Given the description of an element on the screen output the (x, y) to click on. 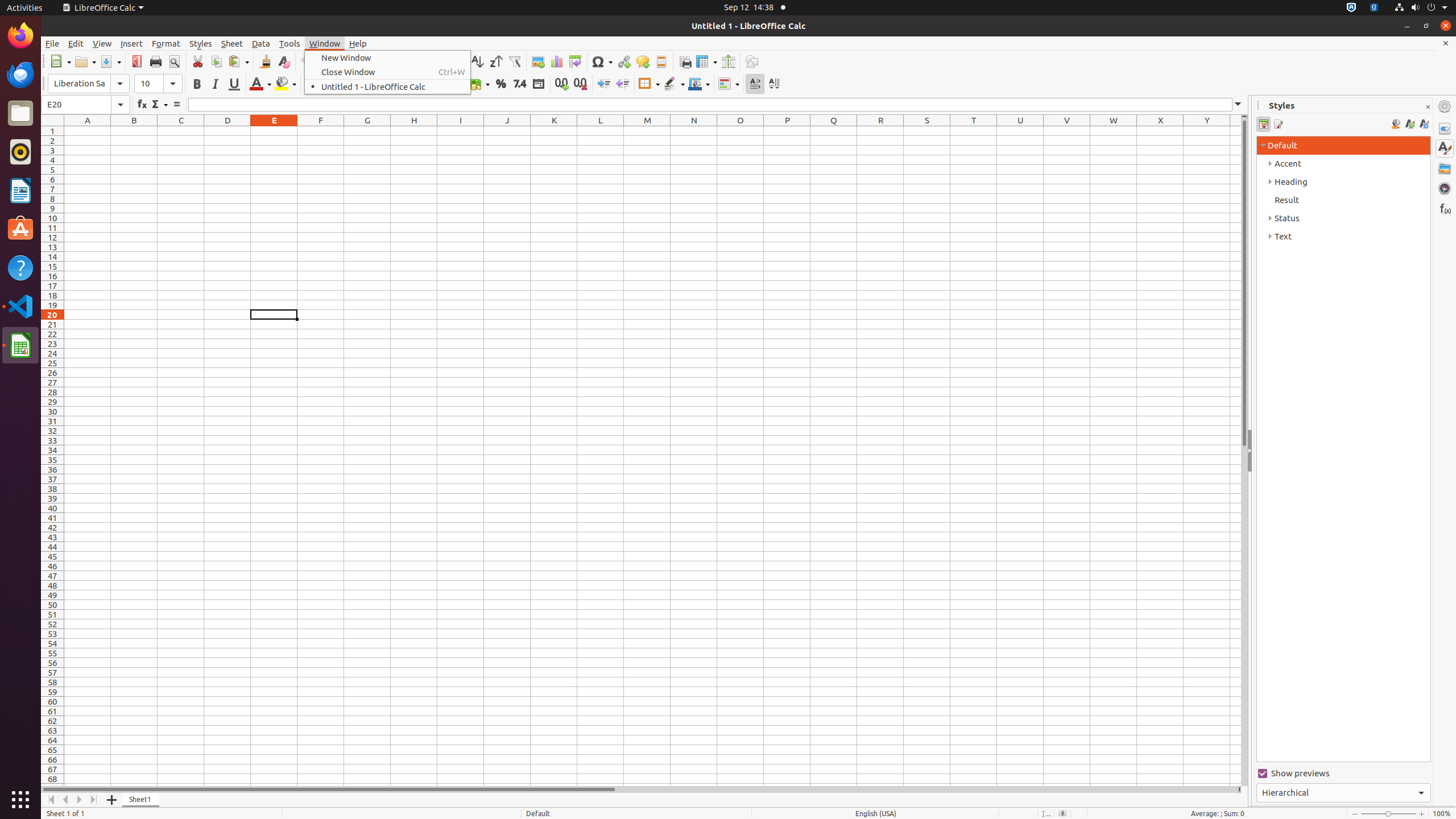
Background Color Element type: push-button (285, 83)
Cut Element type: push-button (197, 61)
T1 Element type: table-cell (973, 130)
Update Style Element type: push-button (1423, 123)
Expand Formula Bar Element type: push-button (1237, 104)
